Given the description of an element on the screen output the (x, y) to click on. 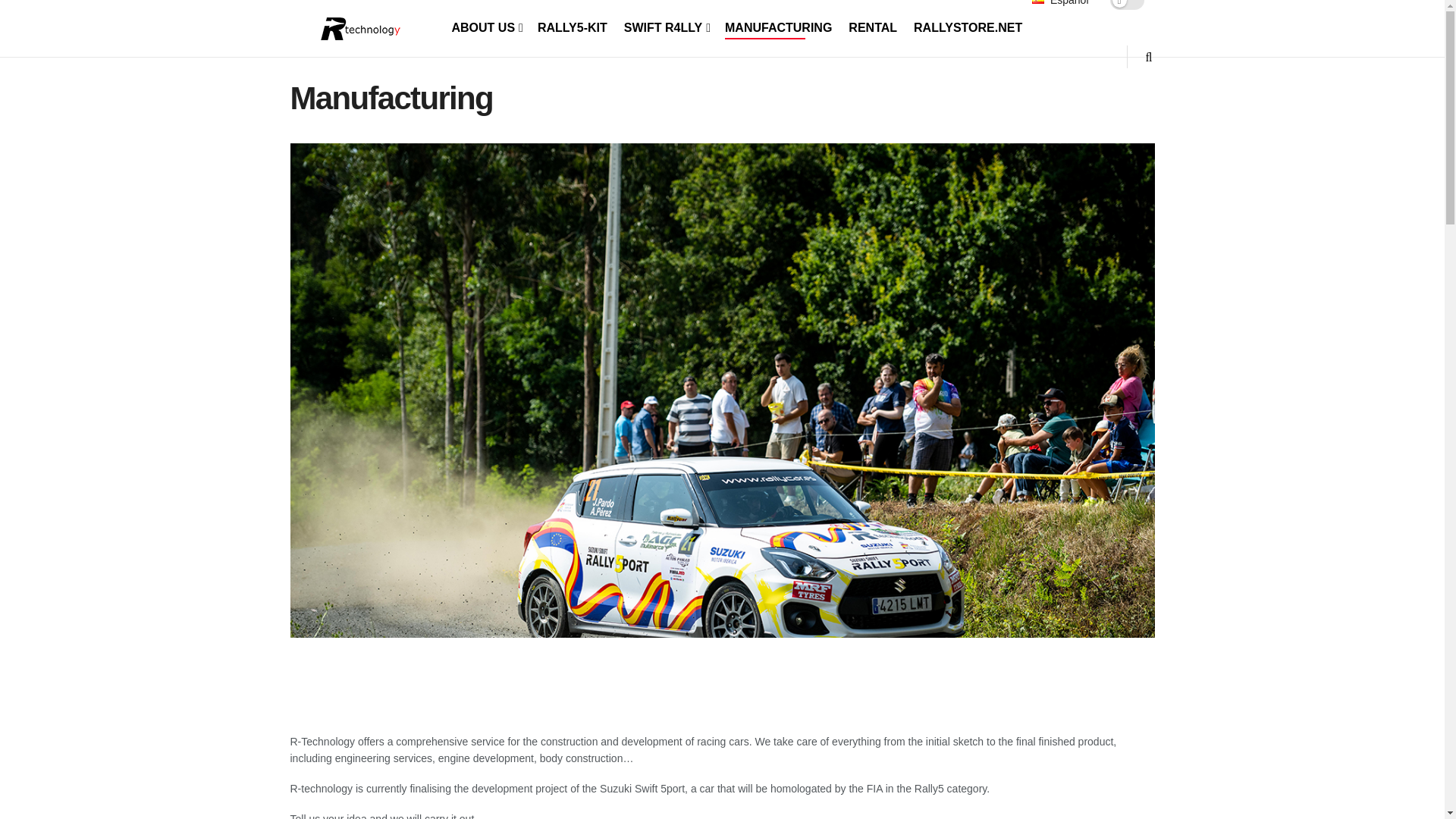
ABOUT US (486, 27)
RALLYSTORE.NET (968, 27)
RALLY5-KIT (572, 27)
MANUFACTURING (778, 27)
RENTAL (872, 27)
SWIFT R4LLY (665, 27)
